Given the description of an element on the screen output the (x, y) to click on. 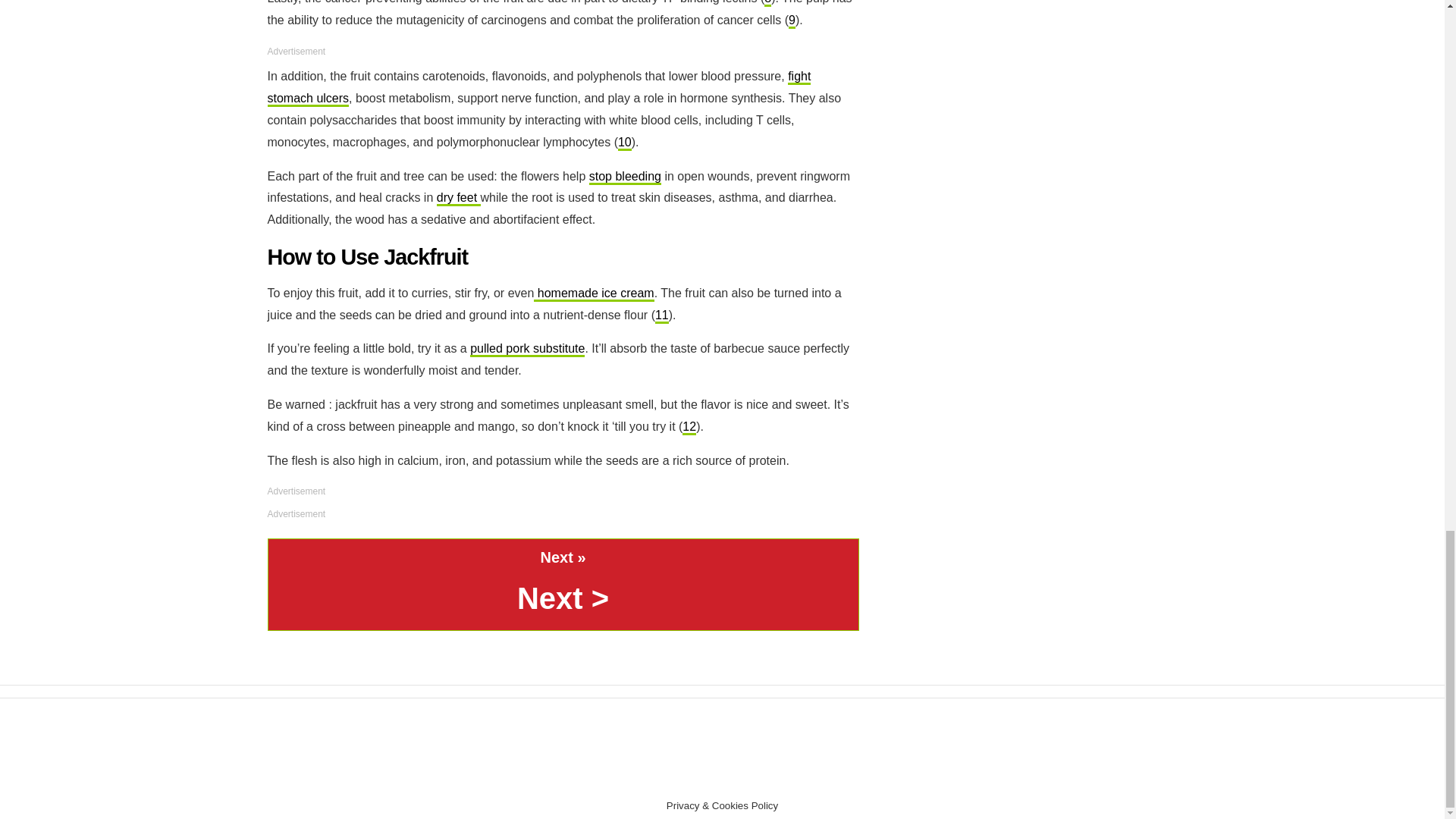
10 (624, 142)
stop bleeding (625, 177)
8 (767, 3)
homemade ice cream (593, 294)
fight stomach ulcers (538, 88)
12 (688, 427)
11 (661, 315)
dry feet (458, 198)
pulled pork substitute (527, 349)
